Given the description of an element on the screen output the (x, y) to click on. 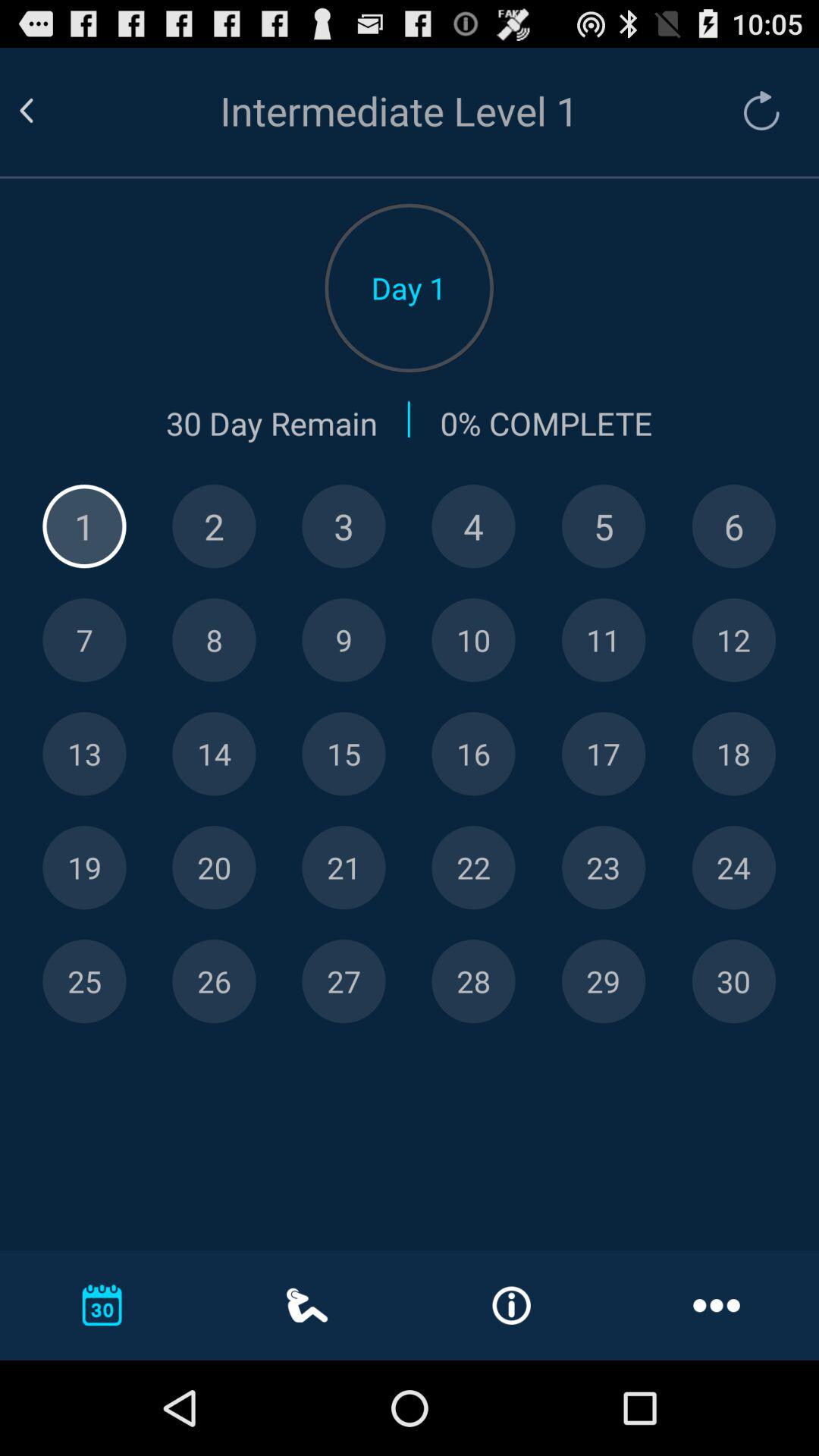
select day 15 (343, 753)
